Given the description of an element on the screen output the (x, y) to click on. 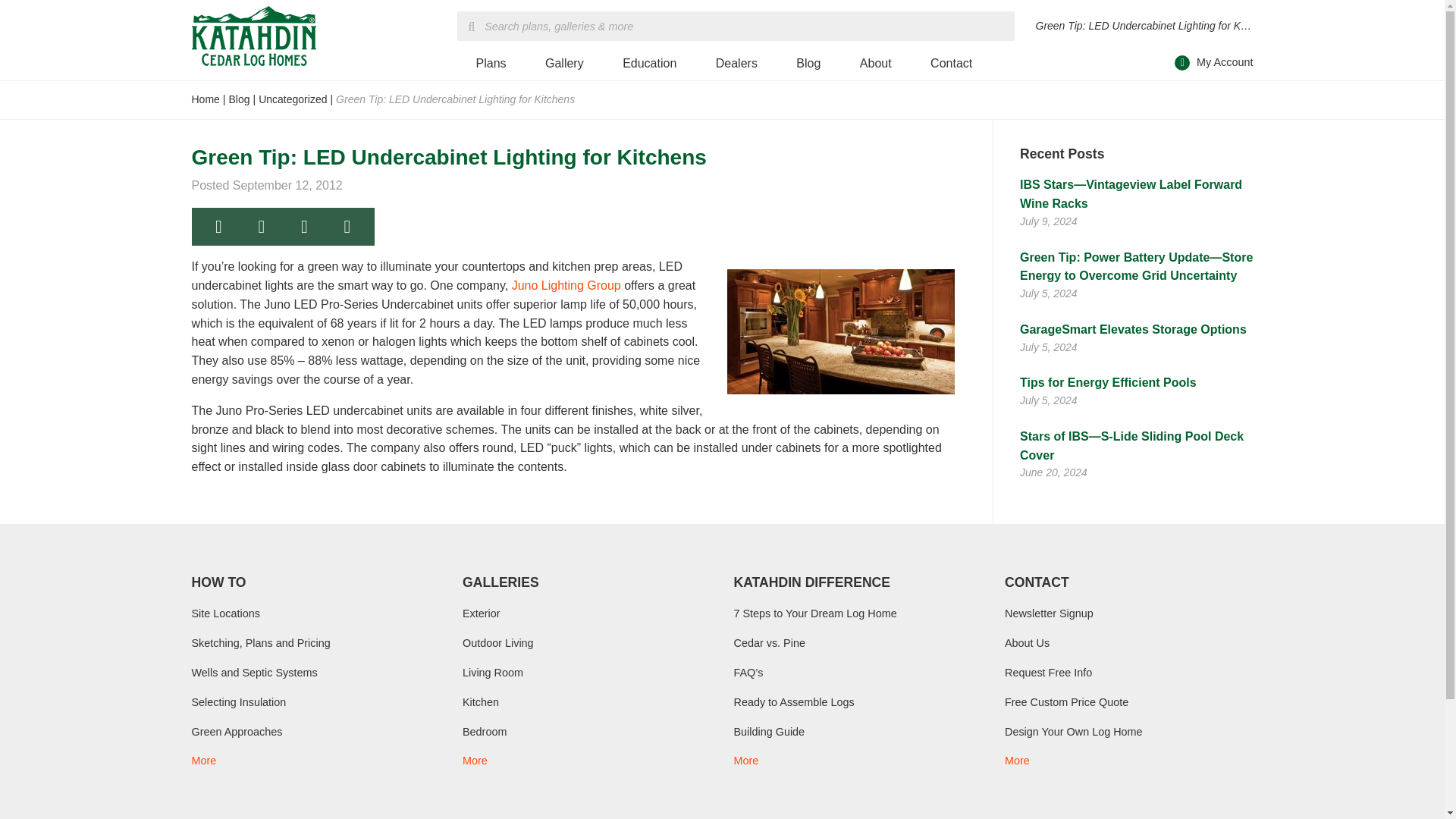
Dealers (736, 63)
Plans (490, 63)
Gallery (563, 63)
Education (649, 63)
Plans (490, 63)
Gallery (563, 63)
Katahdin Cedar Log Homes (252, 35)
Education (649, 63)
